Given the description of an element on the screen output the (x, y) to click on. 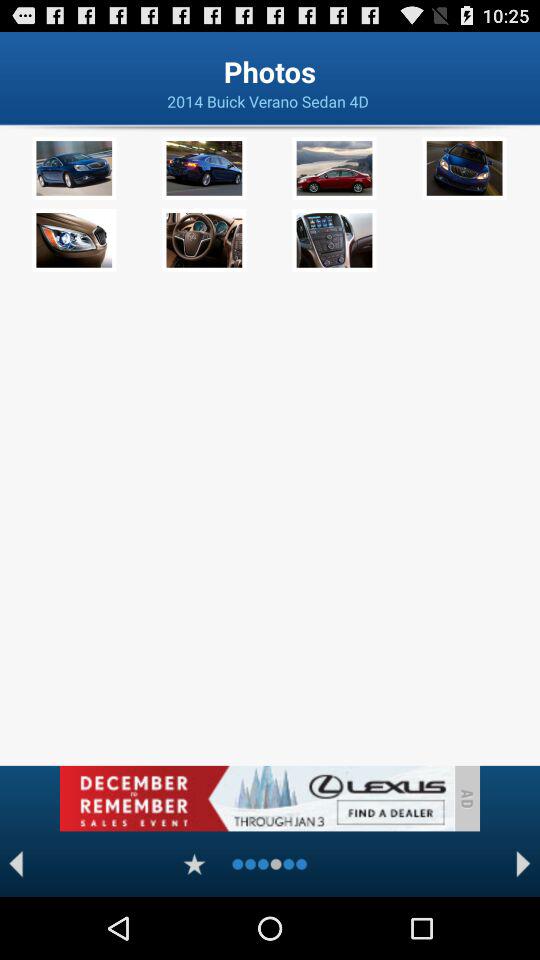
add to favorite (194, 864)
